Given the description of an element on the screen output the (x, y) to click on. 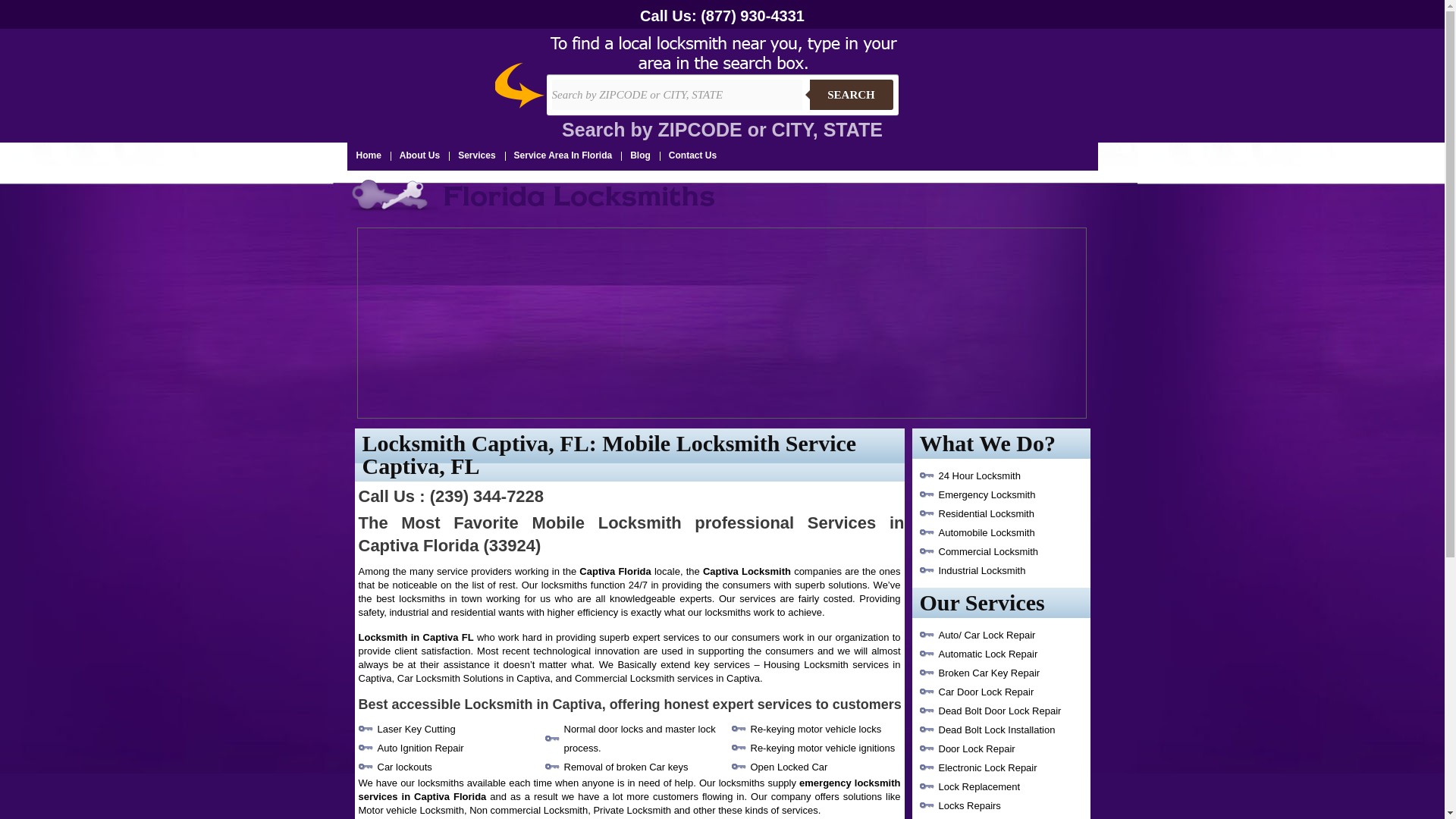
Blog (640, 154)
Services (475, 154)
Contact Us (692, 154)
Home (368, 154)
SEARCH (851, 94)
About Us (419, 154)
Service Area In Florida (563, 154)
